Given the description of an element on the screen output the (x, y) to click on. 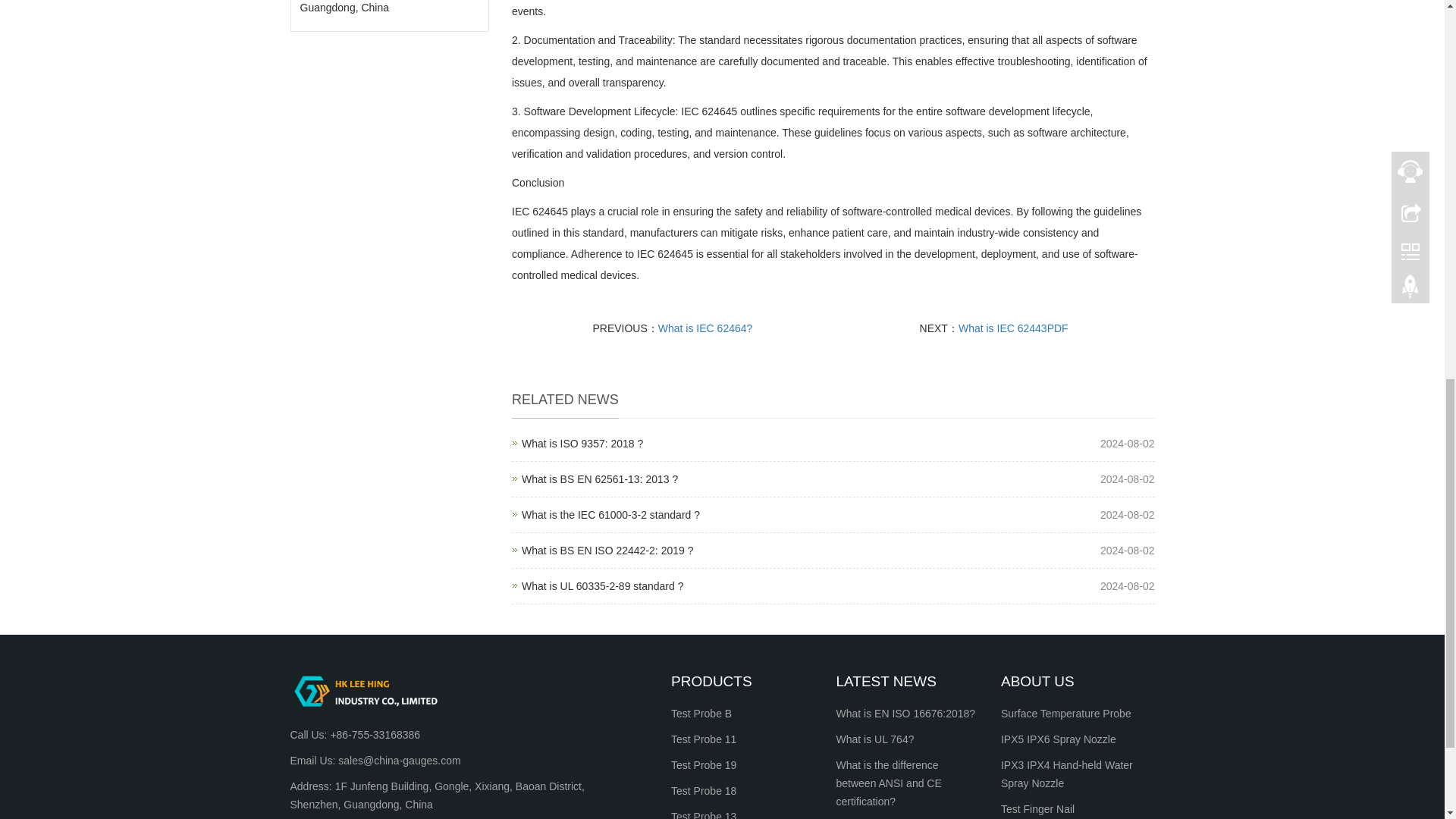
What is IEC 62443PDF (1013, 328)
What is IEC 62464? (599, 479)
What is ISO 9357: 2018 ? (705, 328)
